Given the description of an element on the screen output the (x, y) to click on. 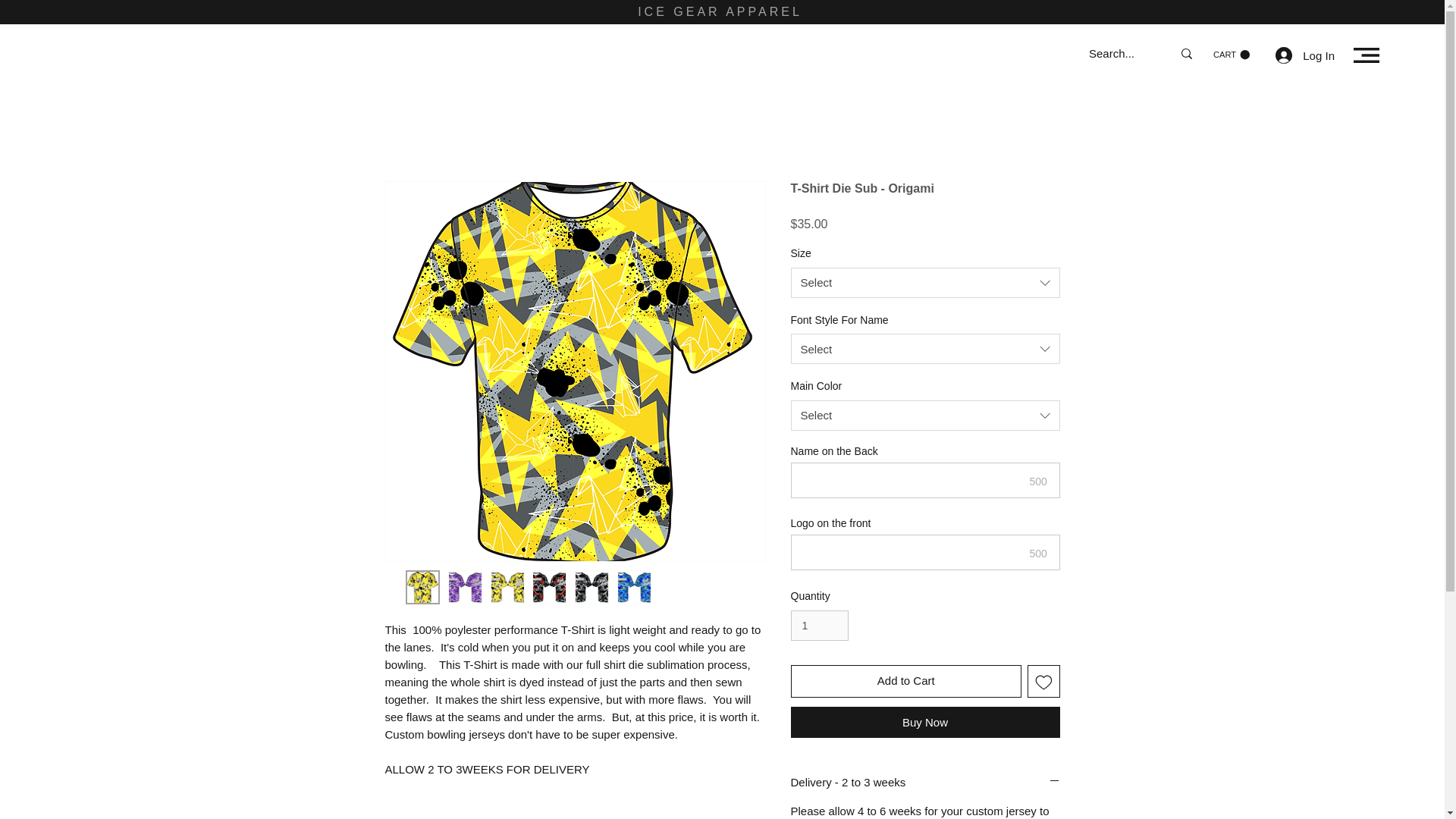
Select (924, 415)
Add to Cart (906, 681)
1 (818, 625)
Delivery - 2 to 3 weeks (924, 781)
Log In (1305, 54)
CART (1230, 54)
Select (924, 282)
Select (924, 348)
Buy Now (924, 721)
CART (1230, 54)
